Given the description of an element on the screen output the (x, y) to click on. 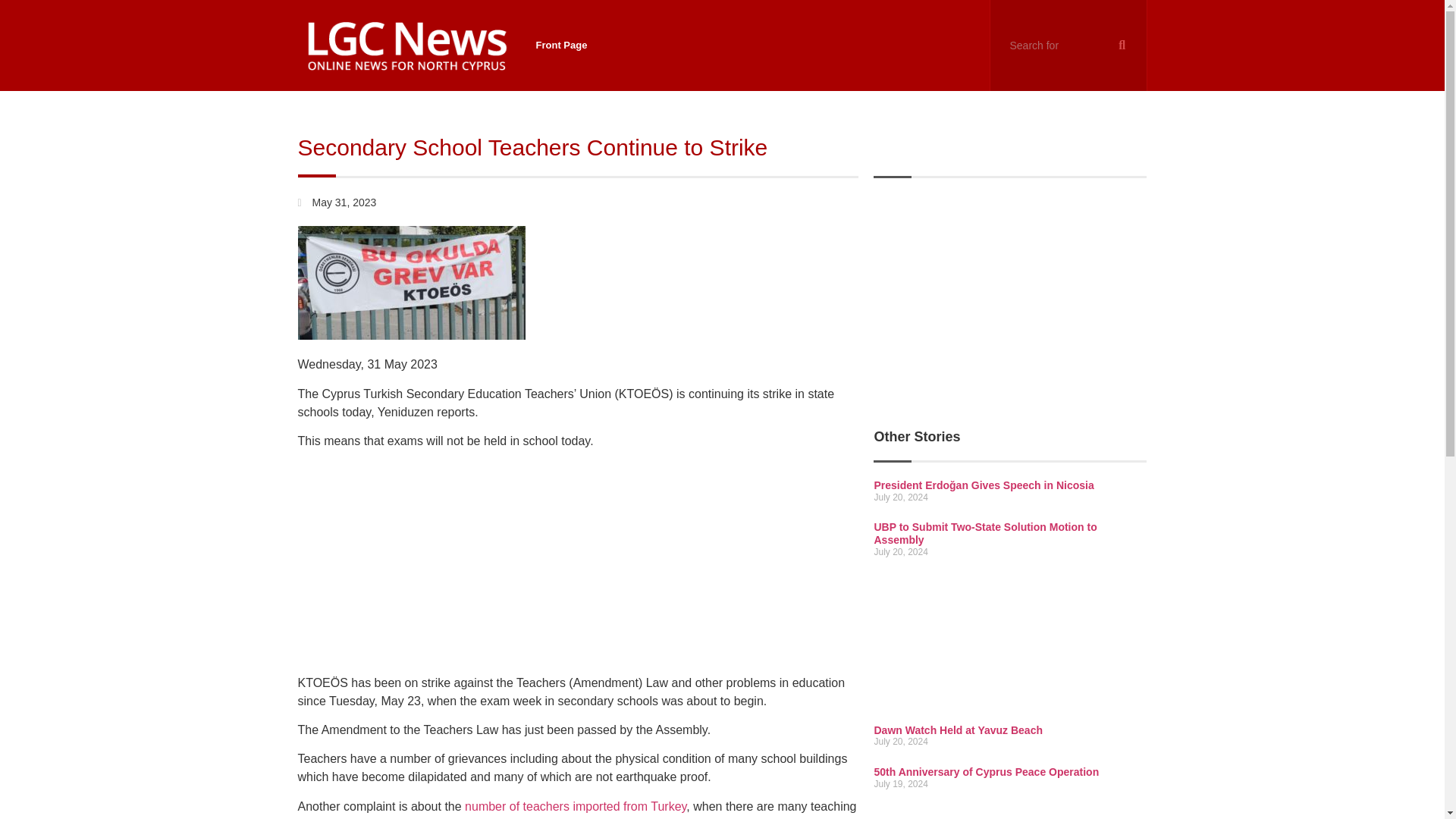
number of teachers imported from Turkey (574, 806)
Dawn Watch Held at Yavuz Beach (957, 729)
May 31, 2023 (336, 202)
Advertisement (1010, 646)
Advertisement (1010, 300)
50th Anniversary of Cyprus Peace Operation (986, 771)
Advertisement (578, 567)
UBP to Submit Two-State Solution Motion to Assembly (984, 533)
